Given the description of an element on the screen output the (x, y) to click on. 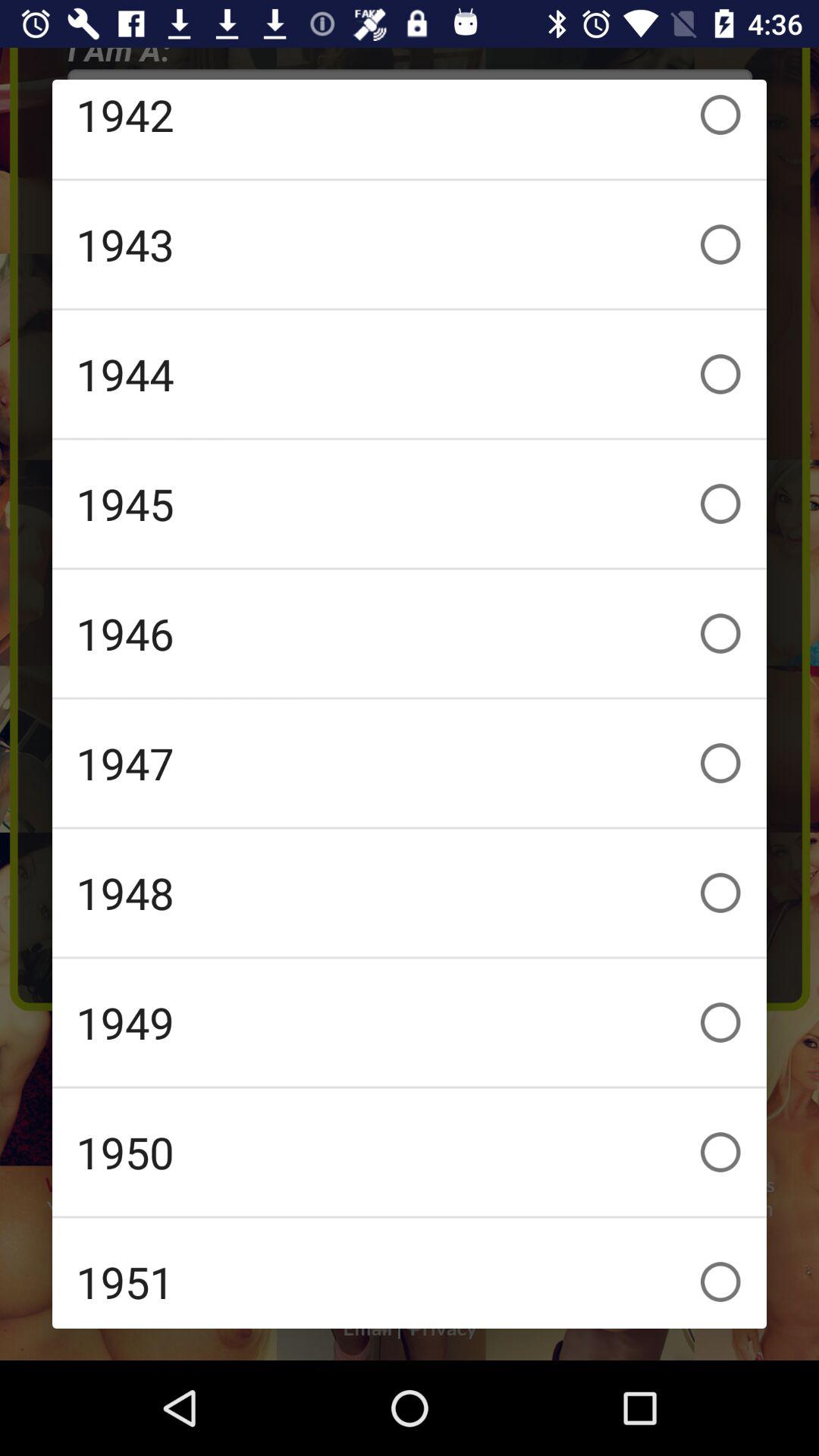
turn off the checkbox below 1945 item (409, 633)
